Given the description of an element on the screen output the (x, y) to click on. 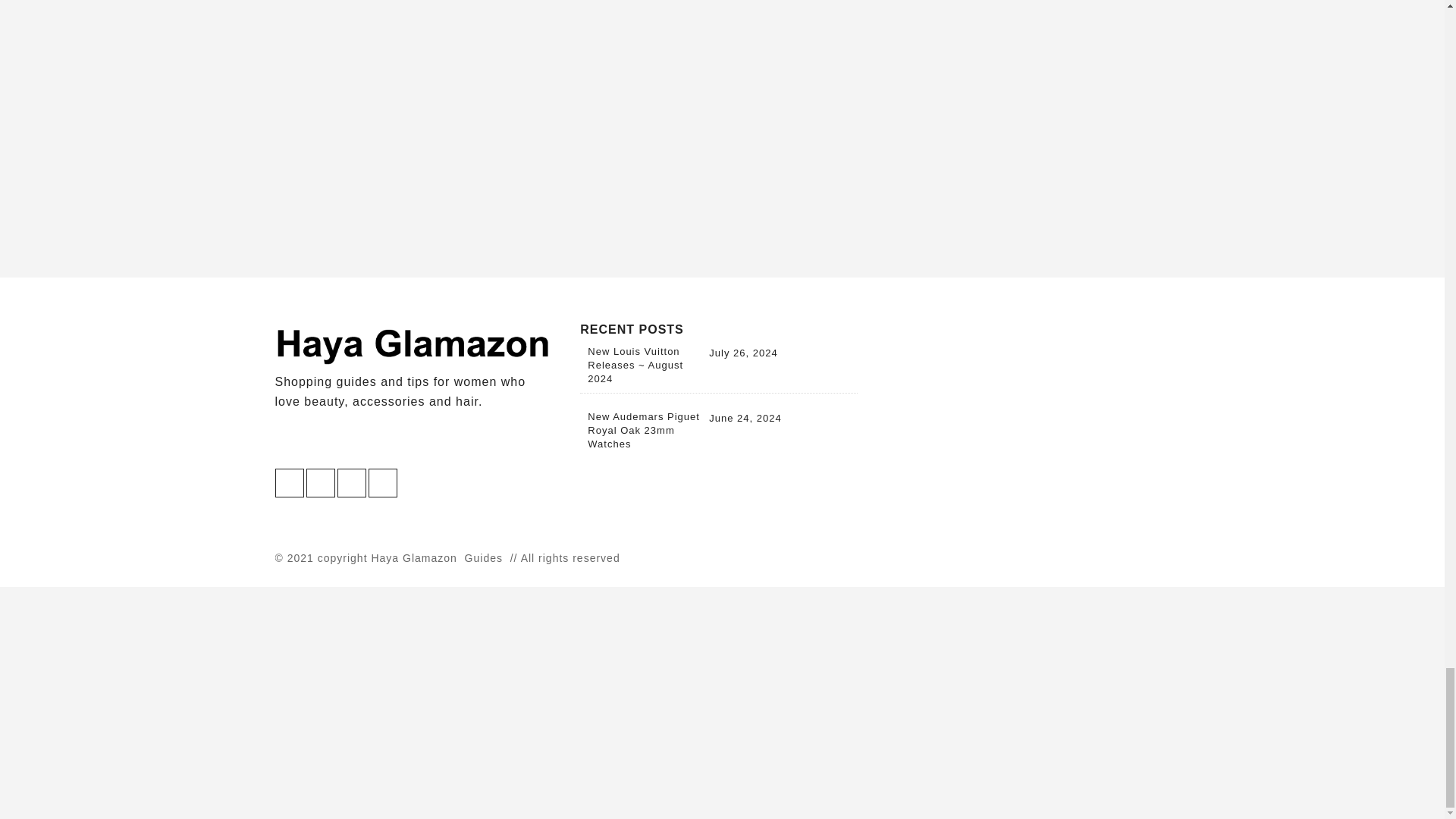
Twitter (288, 482)
Instagram (319, 482)
Facebook (350, 482)
Youtube (382, 482)
